Given the description of an element on the screen output the (x, y) to click on. 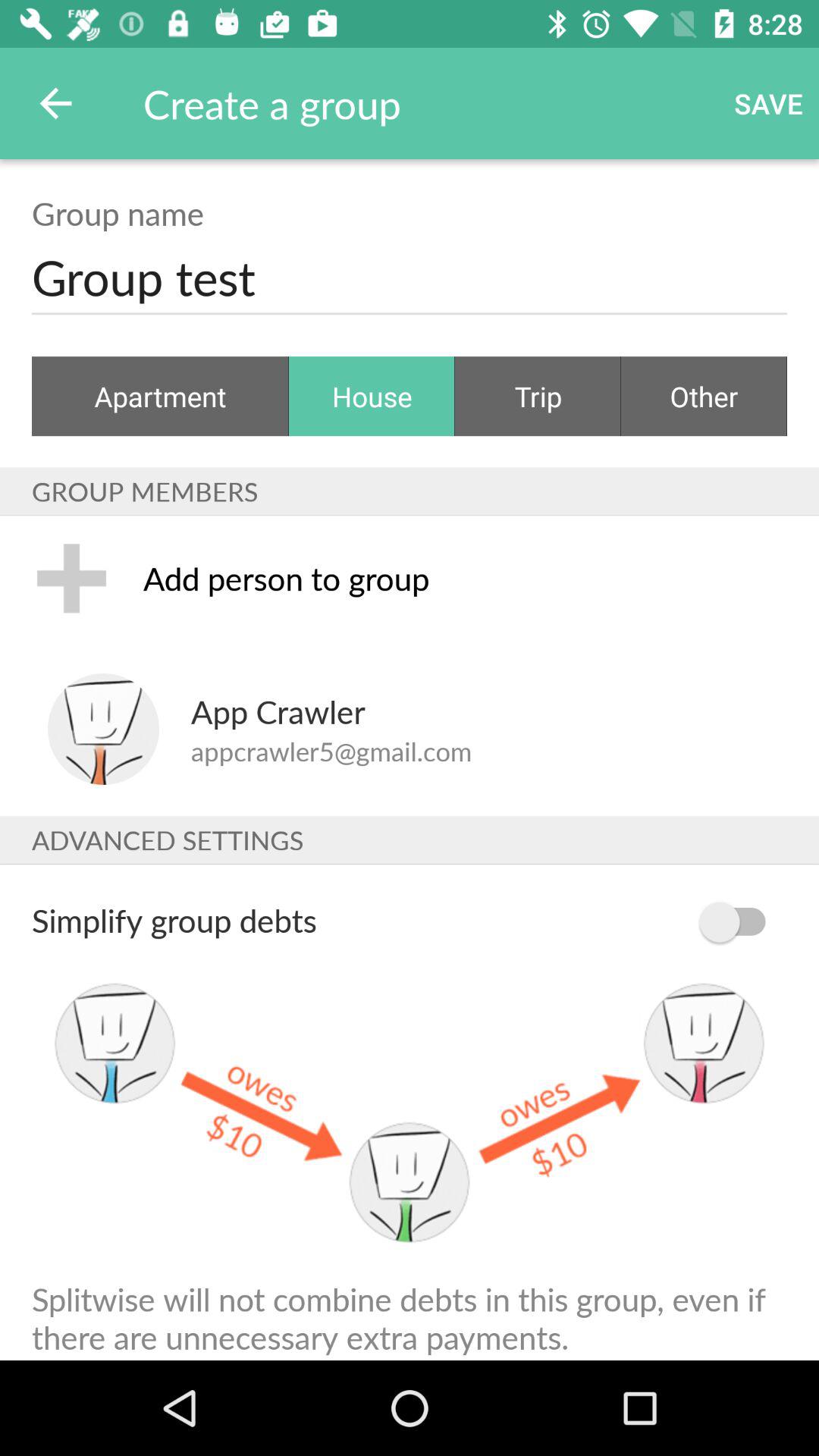
flip until advanced settings (409, 839)
